Given the description of an element on the screen output the (x, y) to click on. 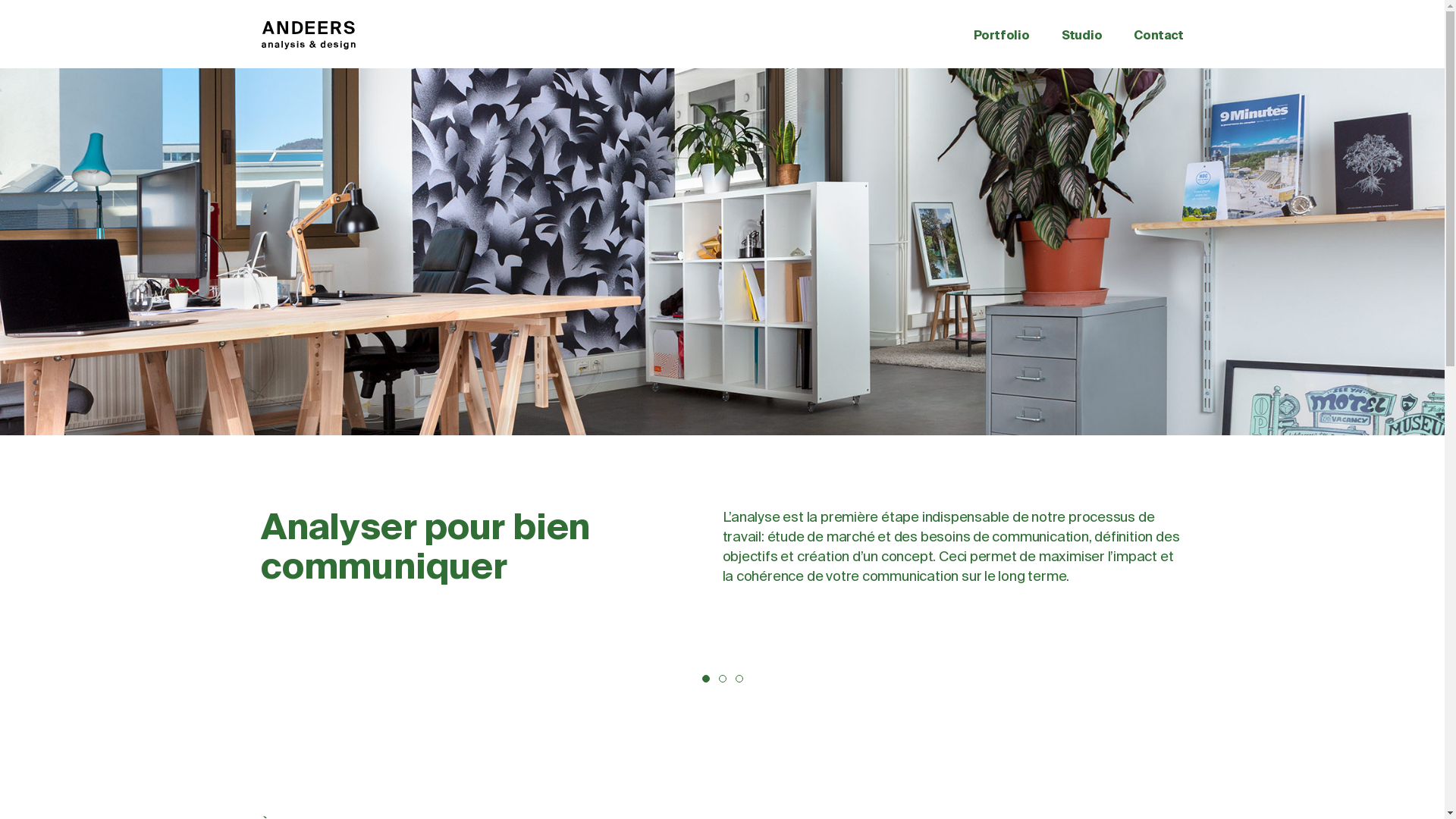
Portfolio Element type: text (1001, 35)
Studio Element type: text (1081, 35)
Contact Element type: text (1158, 35)
